Given the description of an element on the screen output the (x, y) to click on. 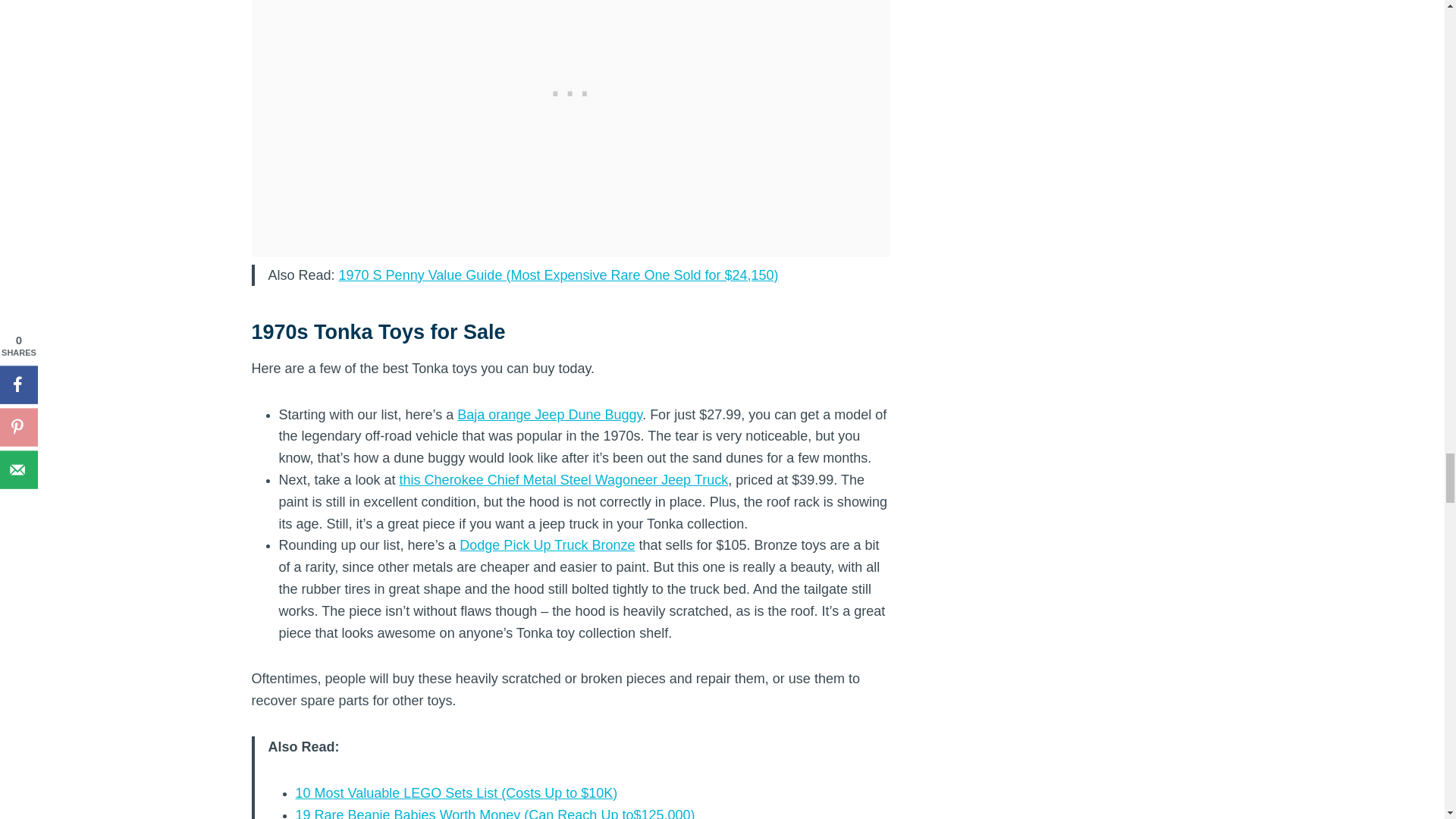
this Cherokee Chief Metal Steel Wagoneer Jeep Truck (563, 479)
Baja orange Jeep Dune Buggy (549, 414)
Dodge Pick Up Truck Bronze (547, 544)
